Given the description of an element on the screen output the (x, y) to click on. 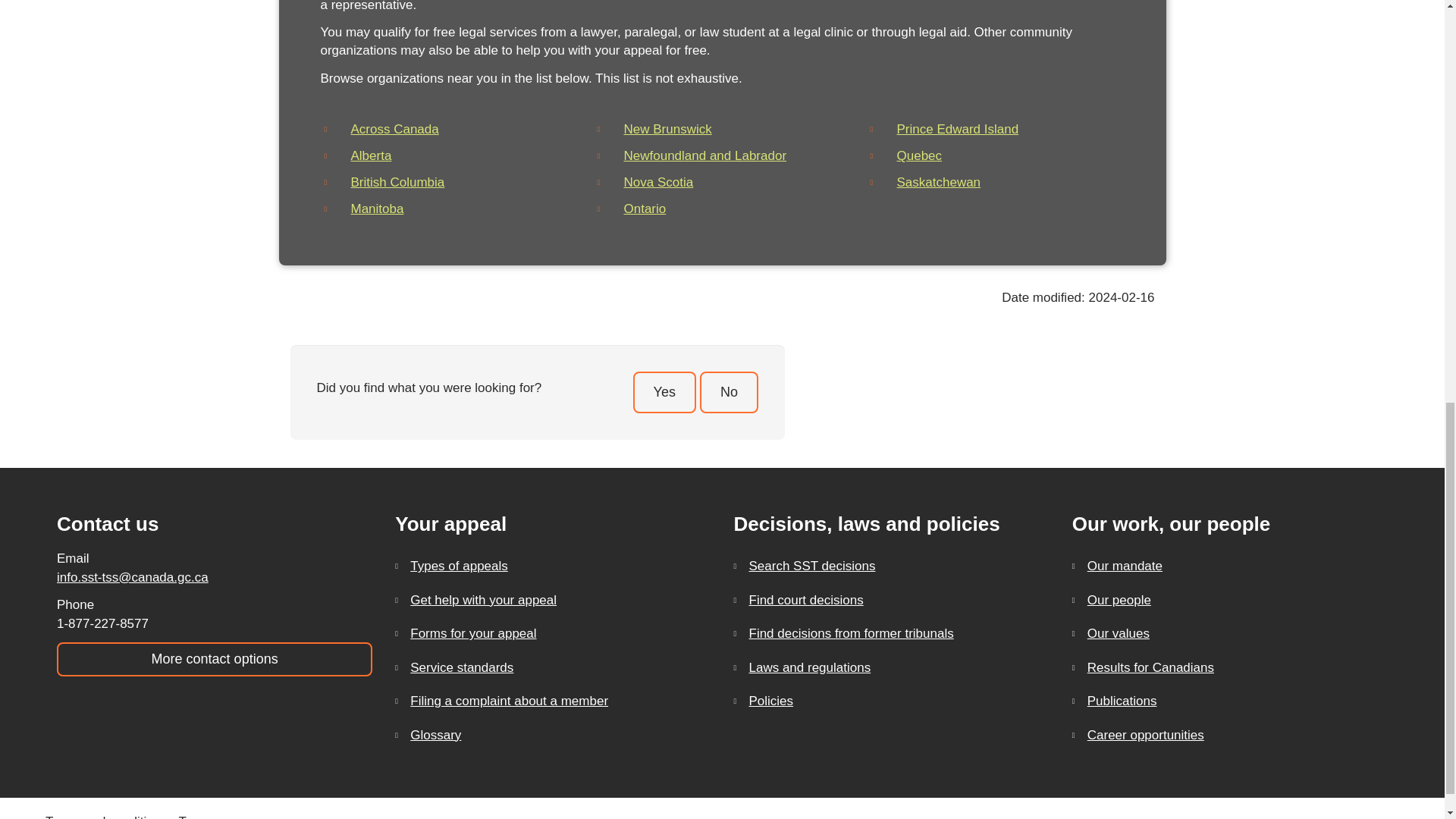
Ontario (644, 208)
Yes (664, 392)
Alberta (370, 155)
No (729, 392)
Prince Edward Island (956, 129)
Nova Scotia (658, 182)
Across Canada (394, 129)
Types of appeals (552, 566)
More contact options (214, 659)
Newfoundland and Labrador (704, 155)
